Given the description of an element on the screen output the (x, y) to click on. 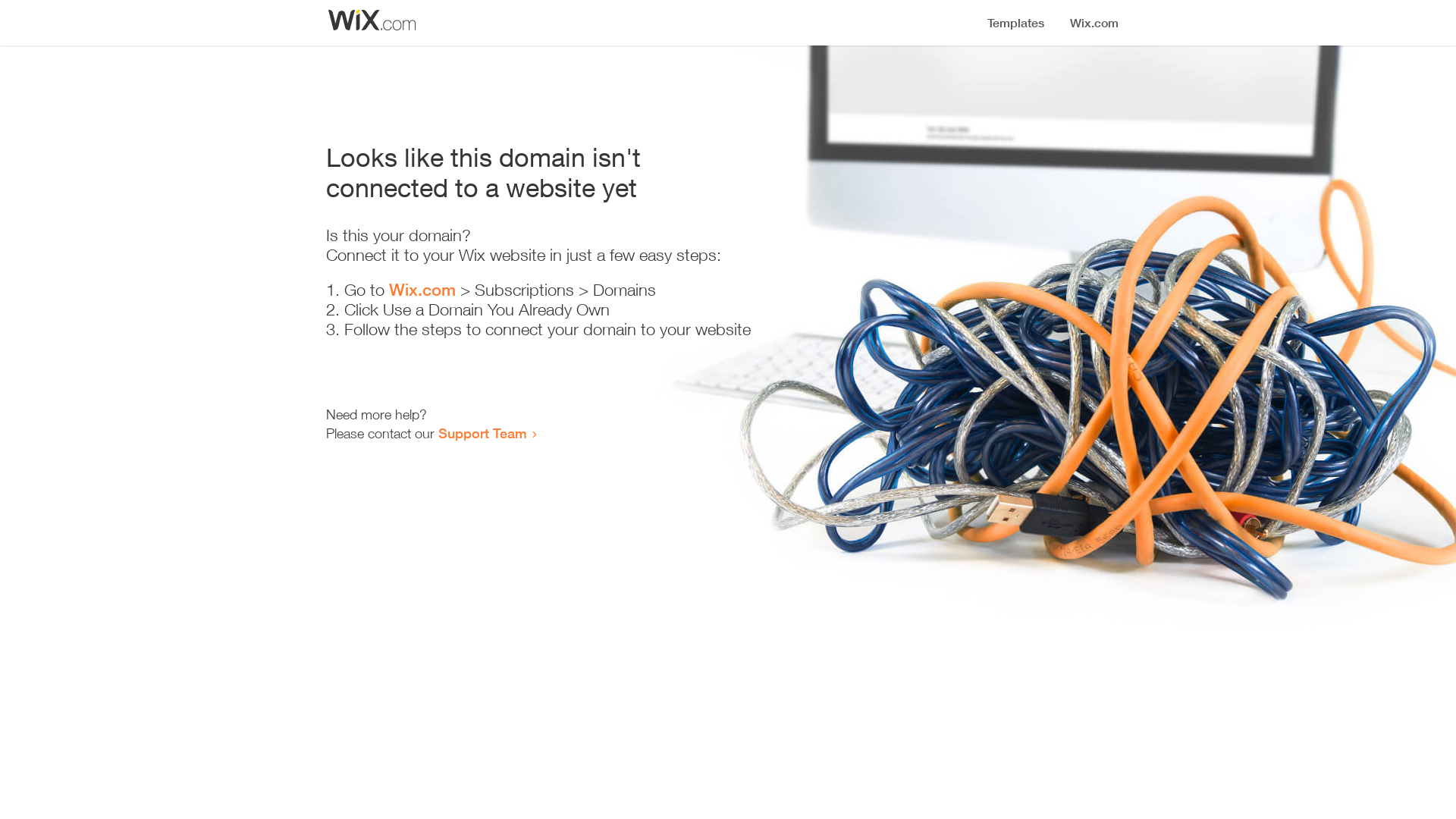
Support Team Element type: text (482, 432)
Wix.com Element type: text (422, 289)
